Given the description of an element on the screen output the (x, y) to click on. 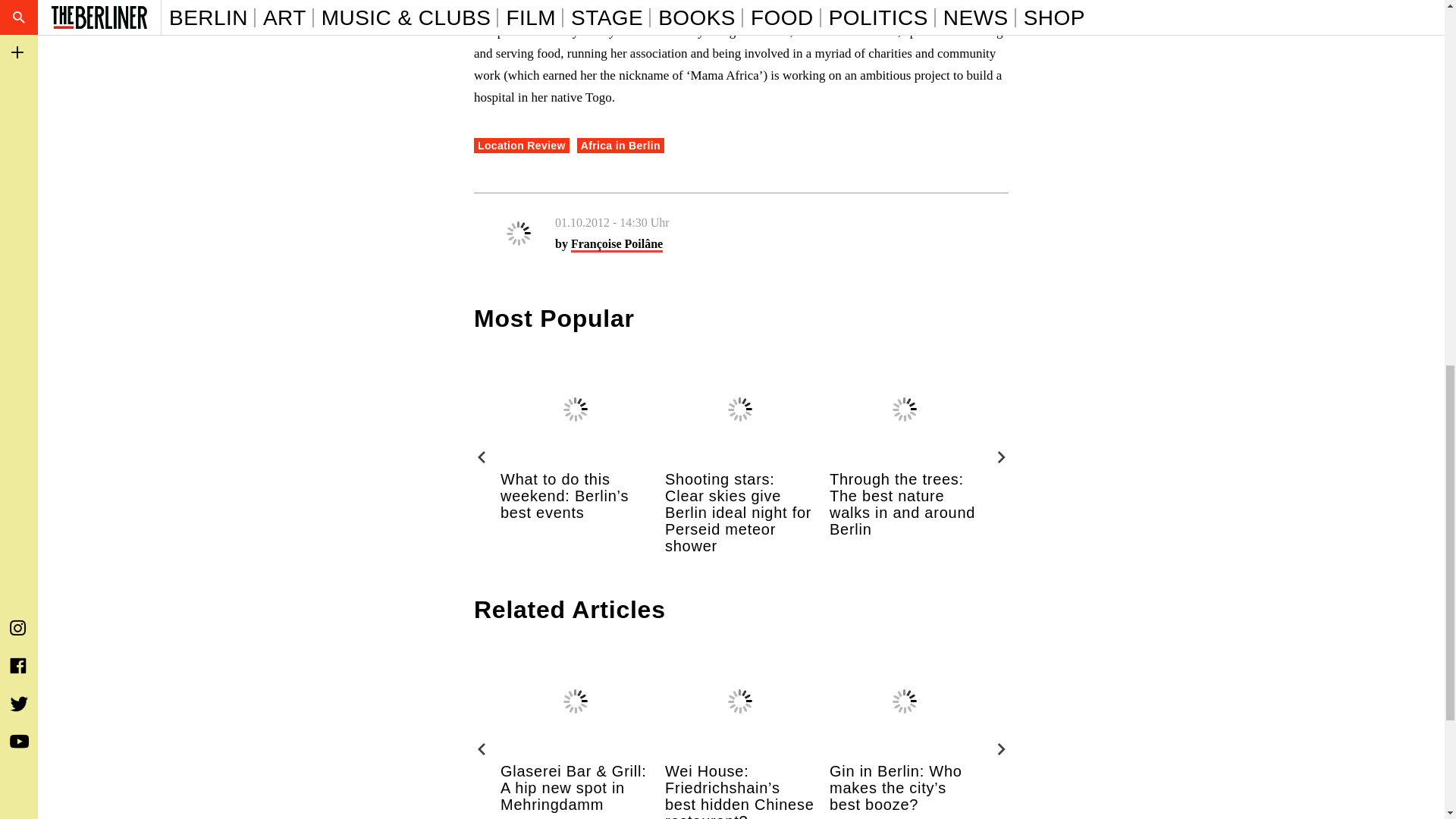
Location Review (521, 145)
Africa in Berlin (619, 145)
Previous (481, 457)
